Given the description of an element on the screen output the (x, y) to click on. 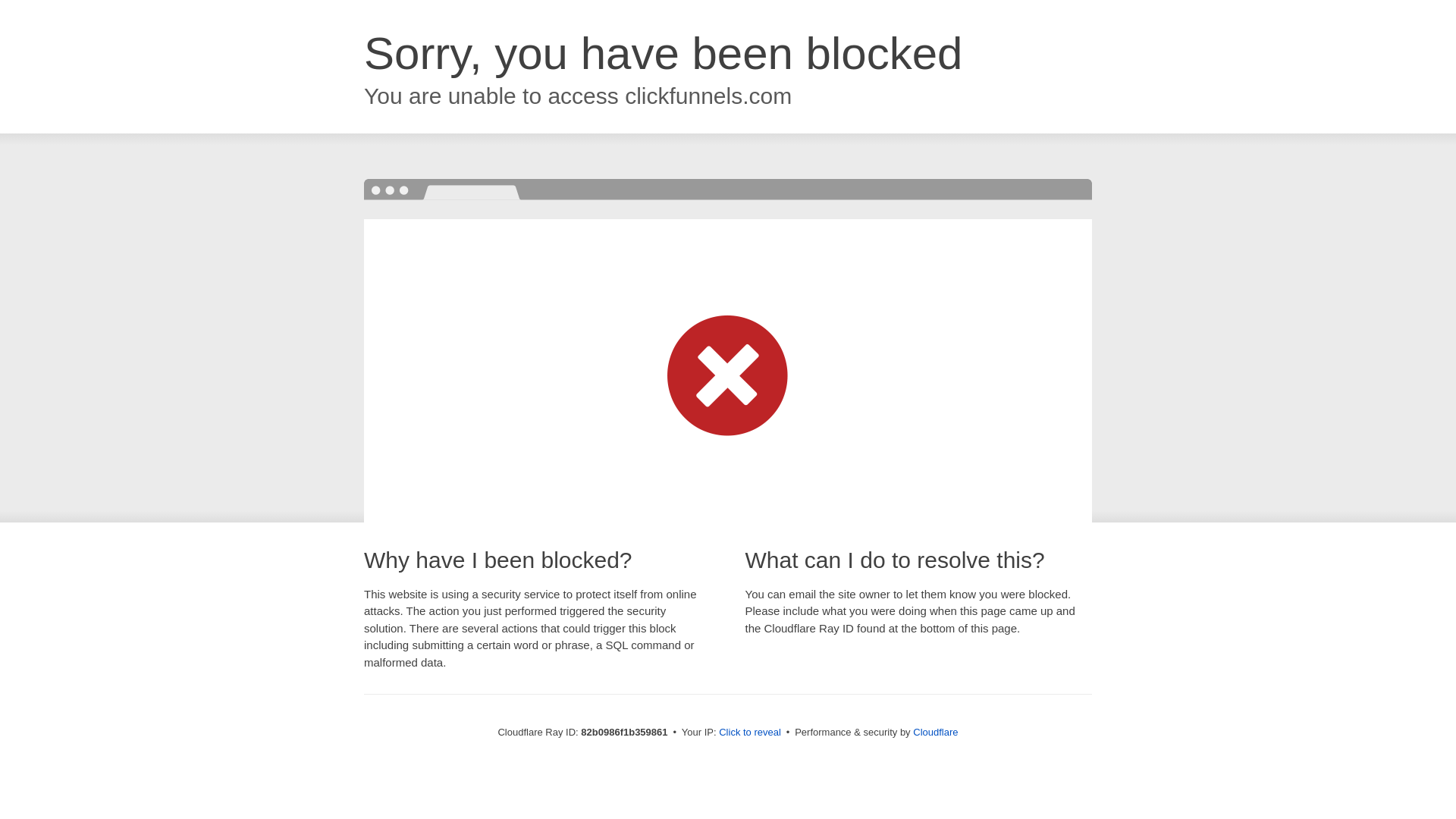
Click to reveal Element type: text (749, 732)
Cloudflare Element type: text (935, 731)
